Given the description of an element on the screen output the (x, y) to click on. 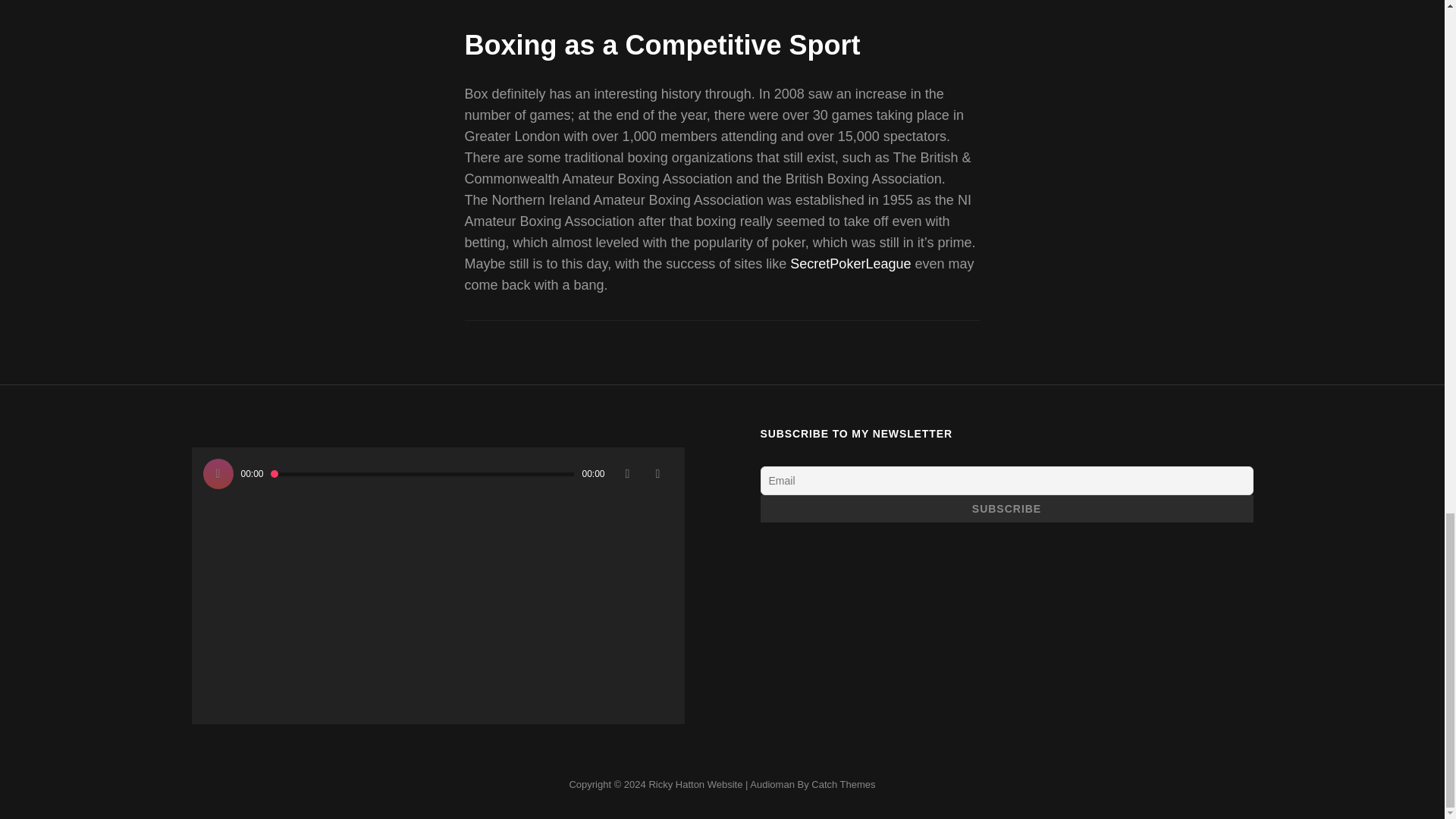
Ricky Hatton Website (694, 784)
Subscribe (1006, 508)
Catch Themes (842, 784)
Subscribe (1006, 508)
Mute (627, 473)
Play (217, 473)
SecretPokerLeague (850, 263)
Fullscreen (657, 473)
